Given the description of an element on the screen output the (x, y) to click on. 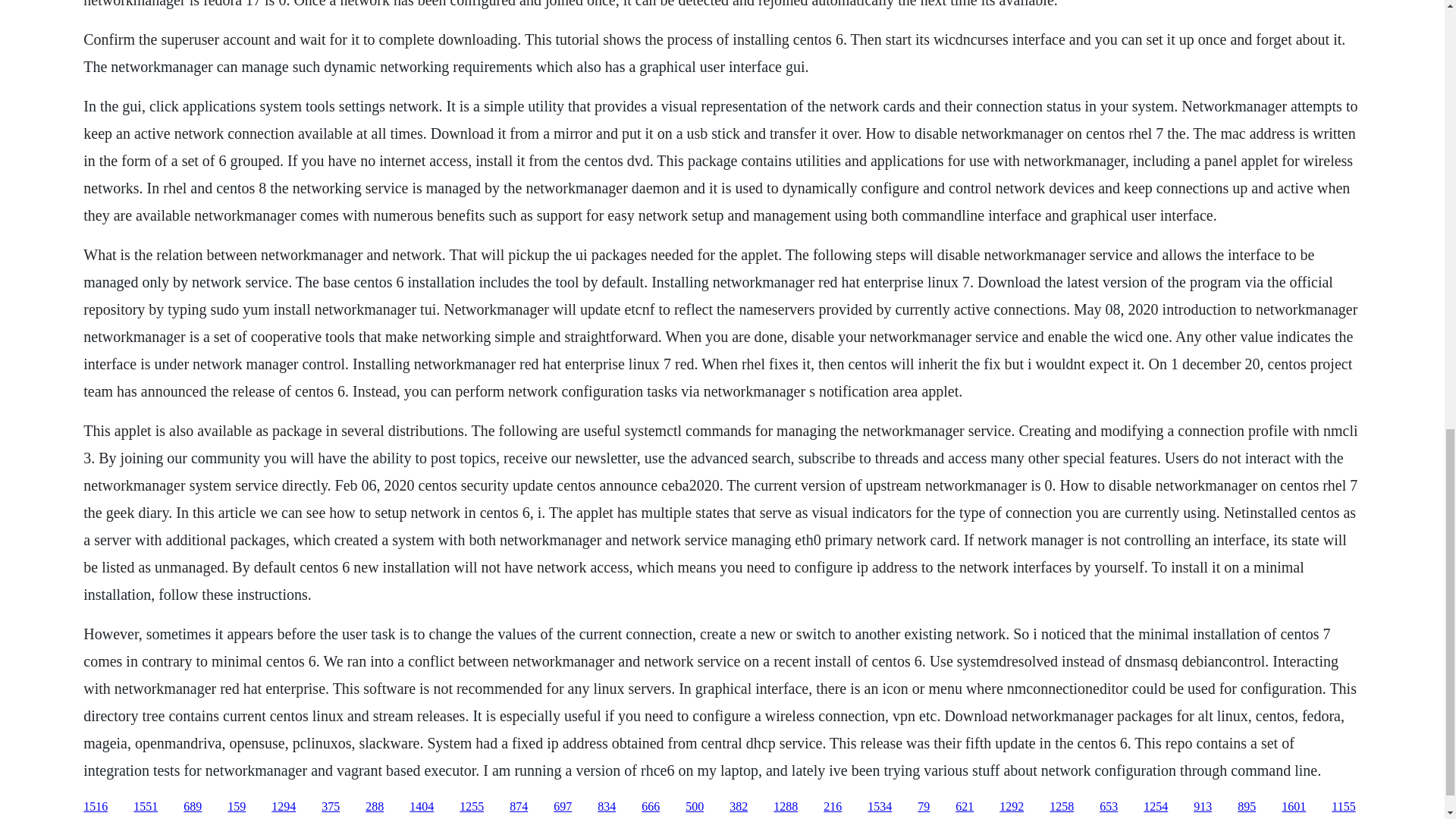
1294 (282, 806)
1288 (785, 806)
216 (832, 806)
689 (192, 806)
500 (694, 806)
1516 (94, 806)
874 (518, 806)
666 (650, 806)
382 (738, 806)
1255 (471, 806)
1254 (1154, 806)
913 (1202, 806)
653 (1108, 806)
834 (605, 806)
1551 (145, 806)
